Given the description of an element on the screen output the (x, y) to click on. 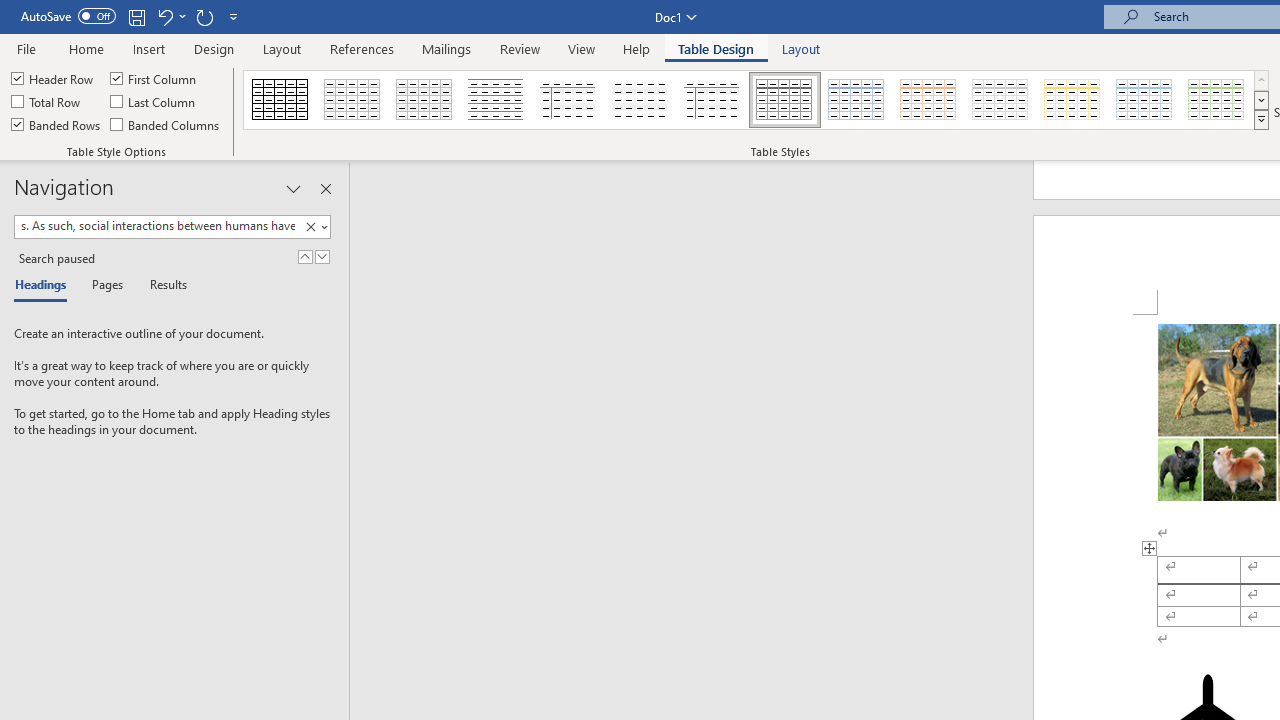
Undo Style (164, 15)
Total Row (47, 101)
Last Column (154, 101)
Grid Table 1 Light - Accent 1 (856, 100)
Plain Table 1 (424, 100)
Grid Table 1 Light - Accent 6 (1217, 100)
Plain Table 3 (568, 100)
